Given the description of an element on the screen output the (x, y) to click on. 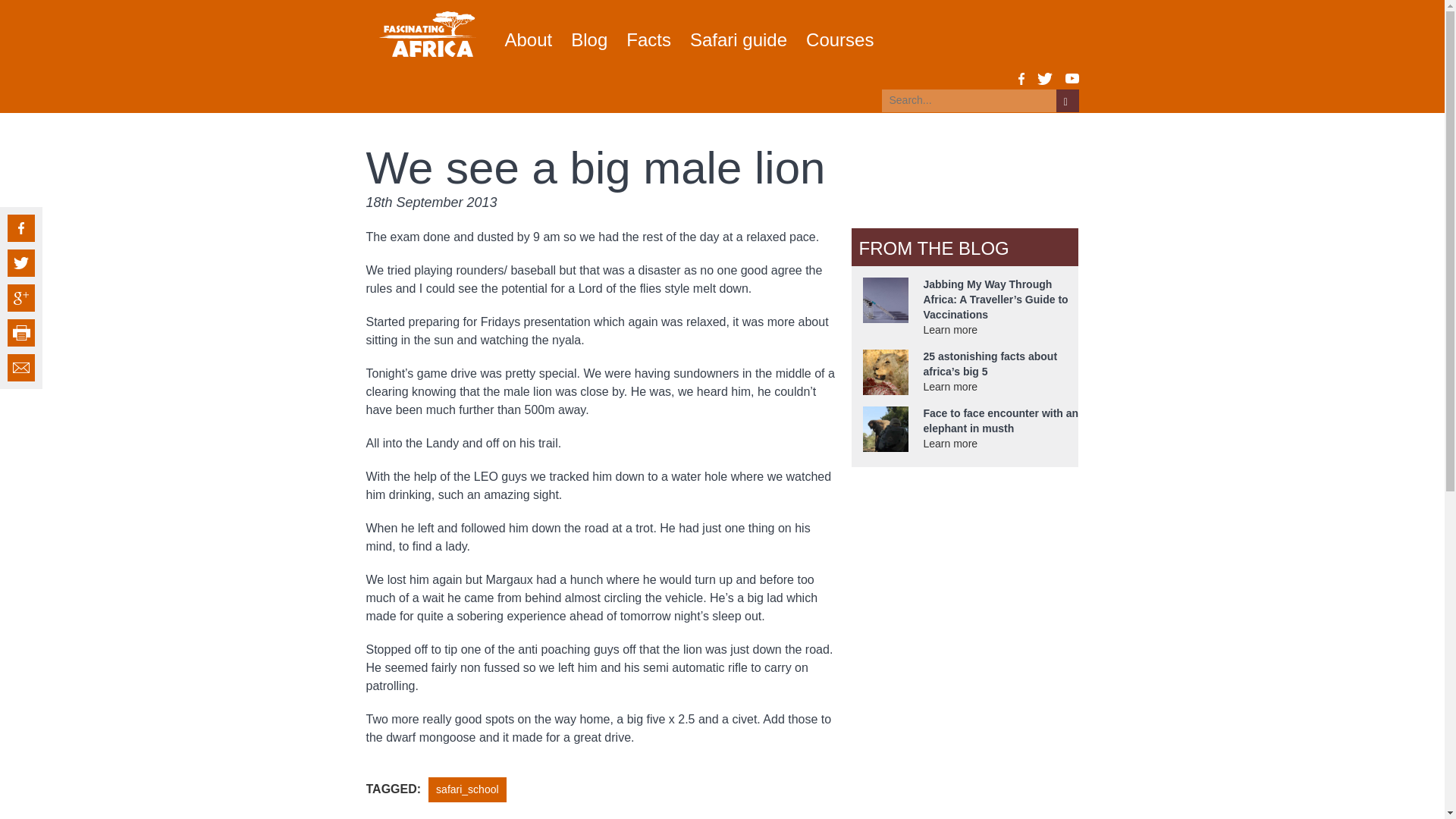
Learn more (950, 443)
Learn more (950, 386)
About (529, 39)
Search (1066, 100)
Safari guide (738, 39)
Facts (648, 39)
YouTube (1071, 78)
Blog (588, 39)
Learn more (950, 329)
Courses (839, 39)
Twitter (1044, 78)
